Given the description of an element on the screen output the (x, y) to click on. 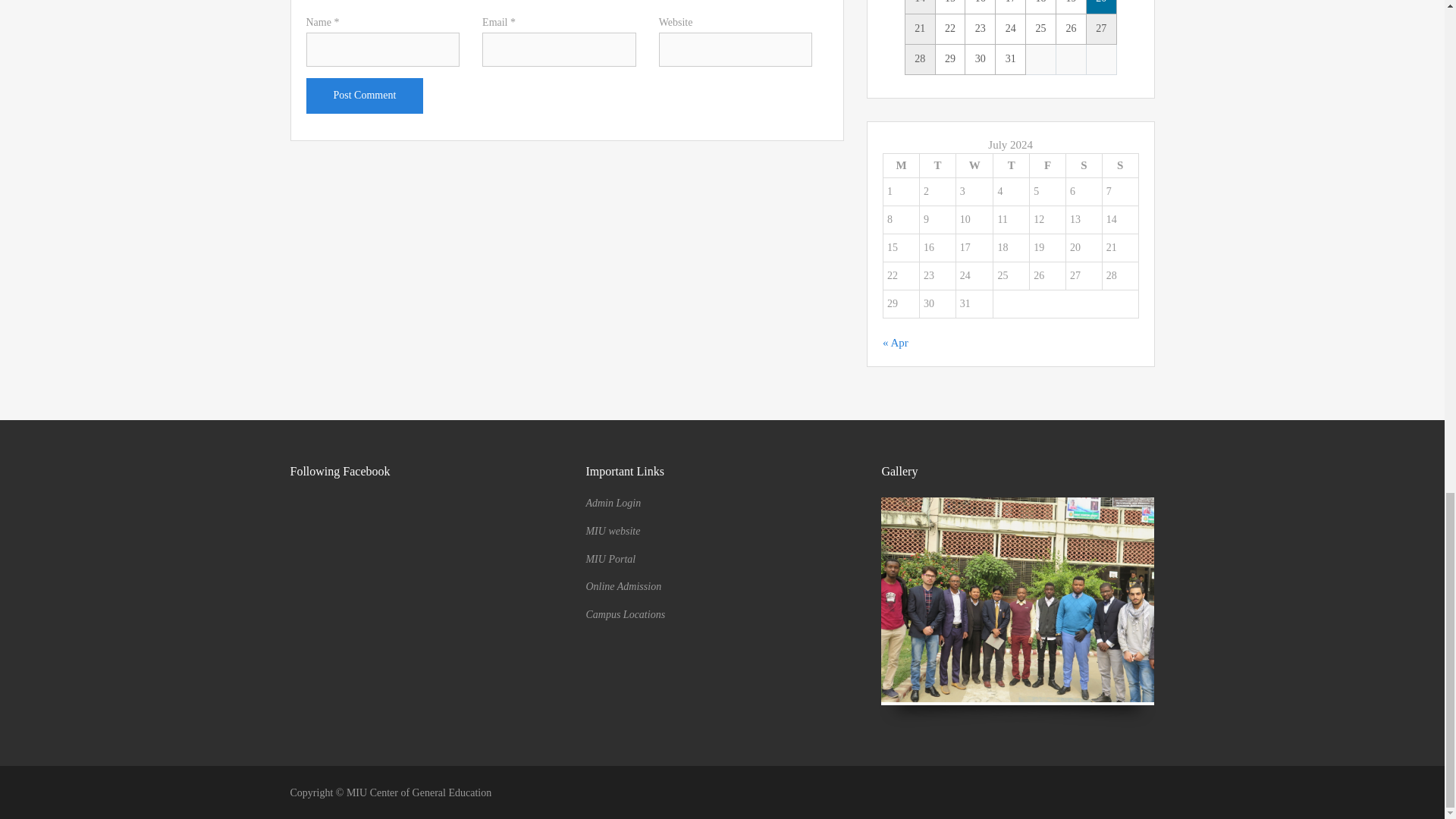
Sunday (1120, 165)
Monday (900, 165)
Friday (1047, 165)
Post Comment (364, 95)
Wednesday (973, 165)
Thursday (1010, 165)
Tuesday (938, 165)
Saturday (1083, 165)
Post Comment (364, 95)
